Given the description of an element on the screen output the (x, y) to click on. 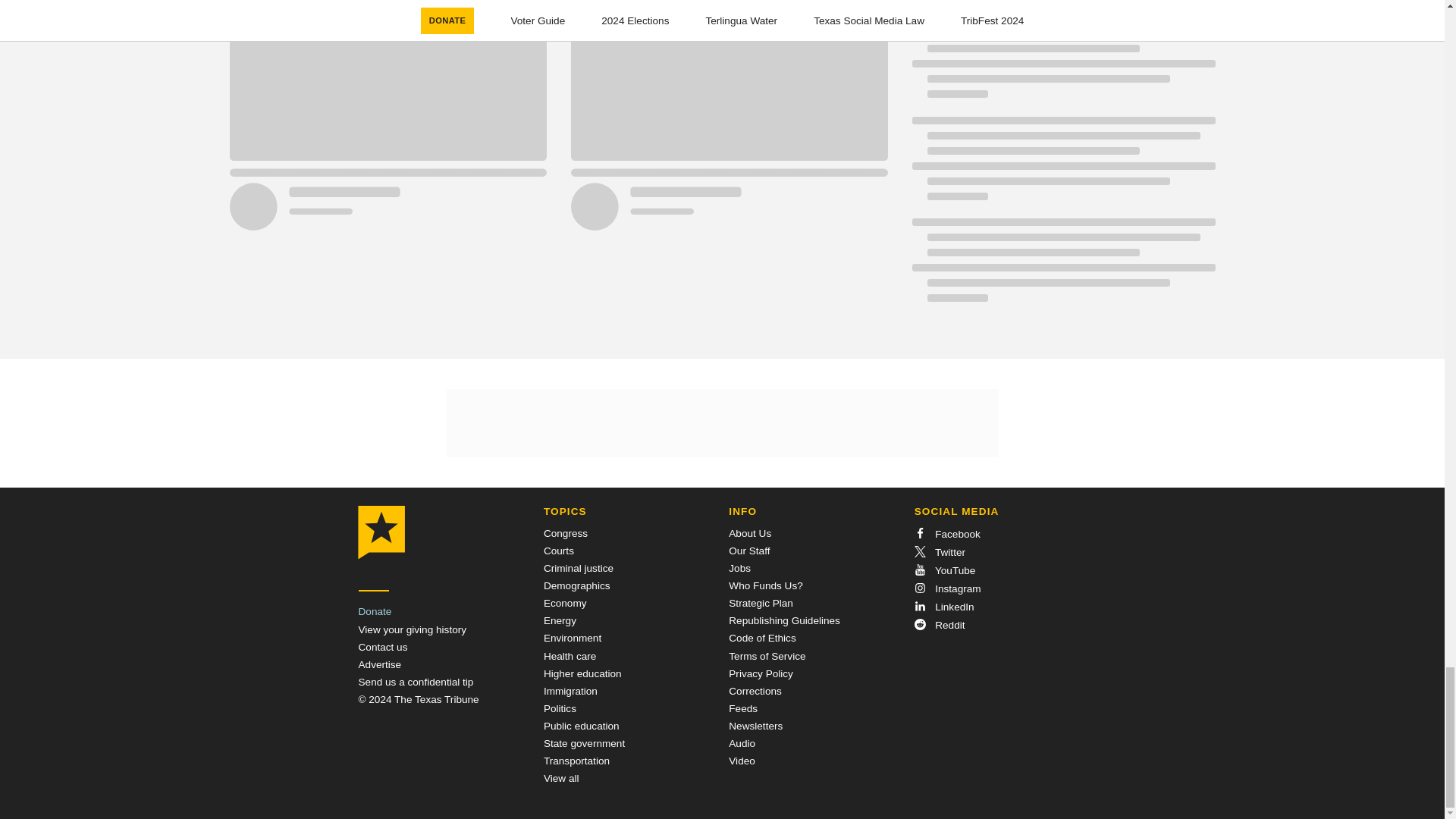
Advertise (379, 664)
Strategic Plan (761, 603)
Donate (374, 611)
View your giving history (411, 628)
Loading indicator (1062, 63)
Corrections (755, 690)
Privacy Policy (761, 673)
Who Funds Us? (765, 585)
Contact us (382, 646)
Loading indicator (1062, 166)
